Given the description of an element on the screen output the (x, y) to click on. 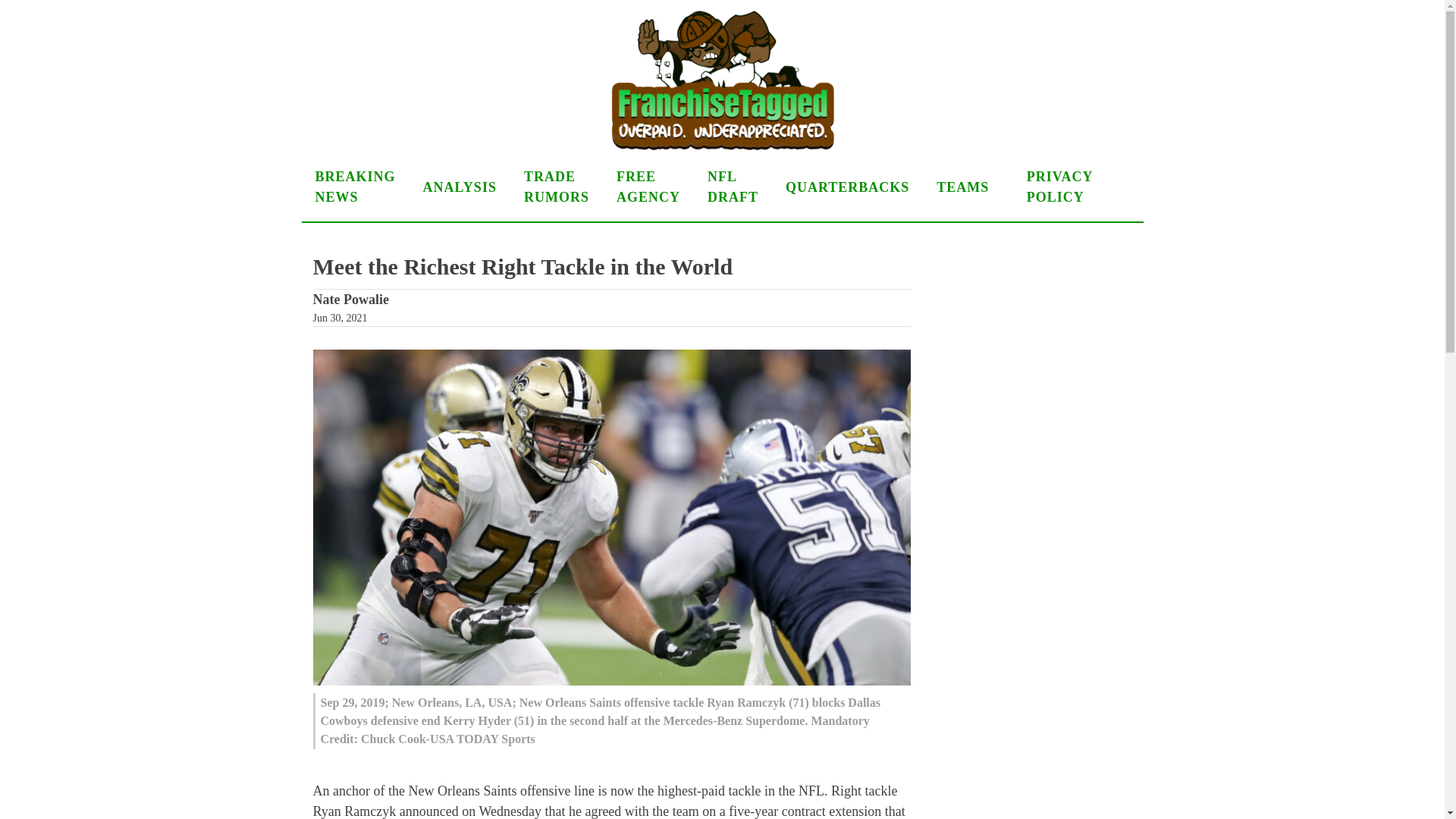
QUARTERBACKS (847, 187)
TRADE RUMORS (556, 187)
Posts by Nate Powalie (350, 299)
ANALYSIS (460, 187)
BREAKING NEWS (355, 187)
FREE AGENCY (648, 187)
NFL DRAFT (732, 187)
TEAMS (968, 187)
